Given the description of an element on the screen output the (x, y) to click on. 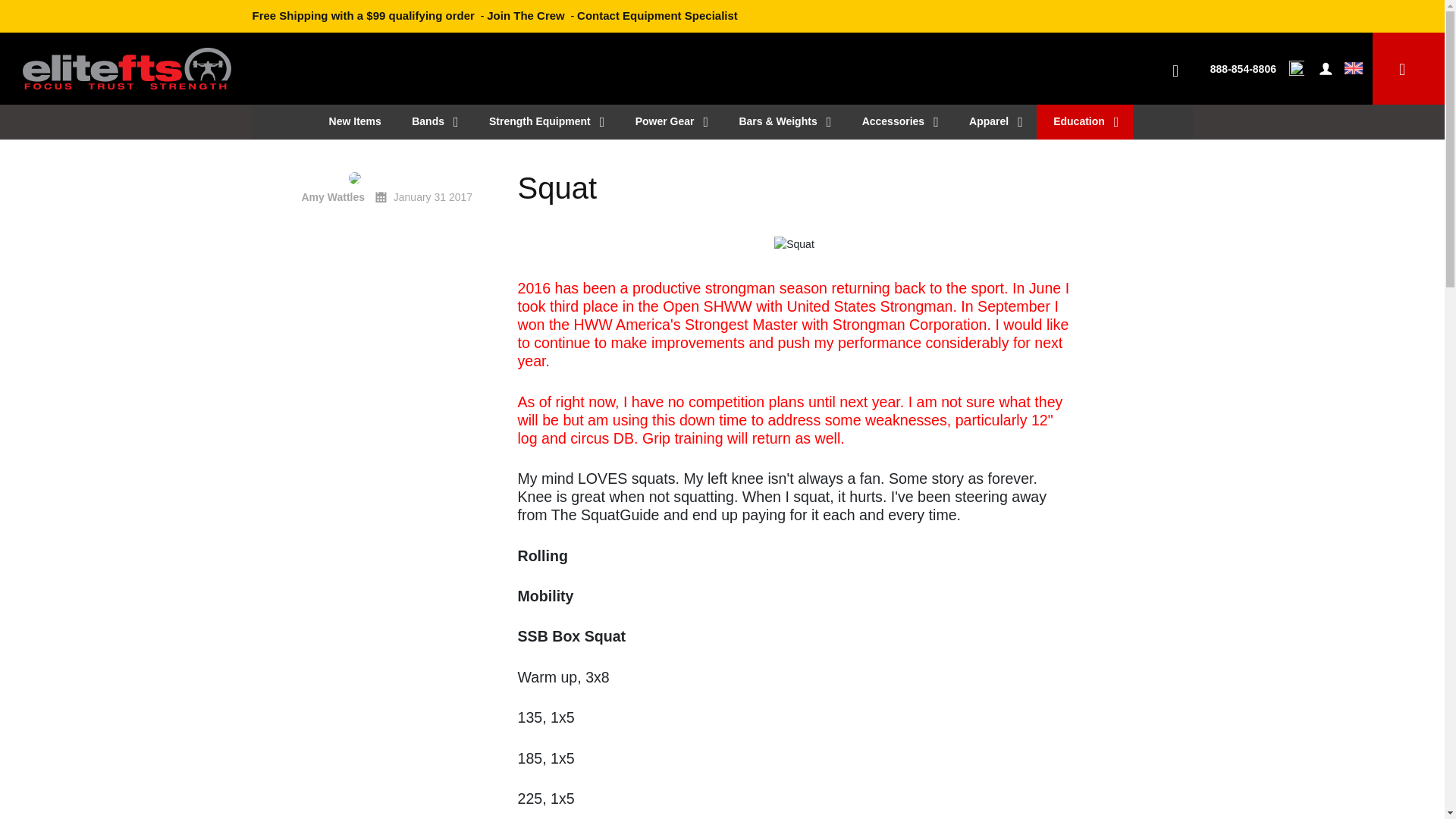
Contact Equipment Specialist (657, 15)
EliteFTS (127, 60)
Visit EliteFTS - UK (1352, 68)
Squat (793, 187)
email us (1297, 68)
login - create account (1325, 68)
New Items (352, 121)
Bands (432, 121)
Join The Crew (525, 15)
